Given the description of an element on the screen output the (x, y) to click on. 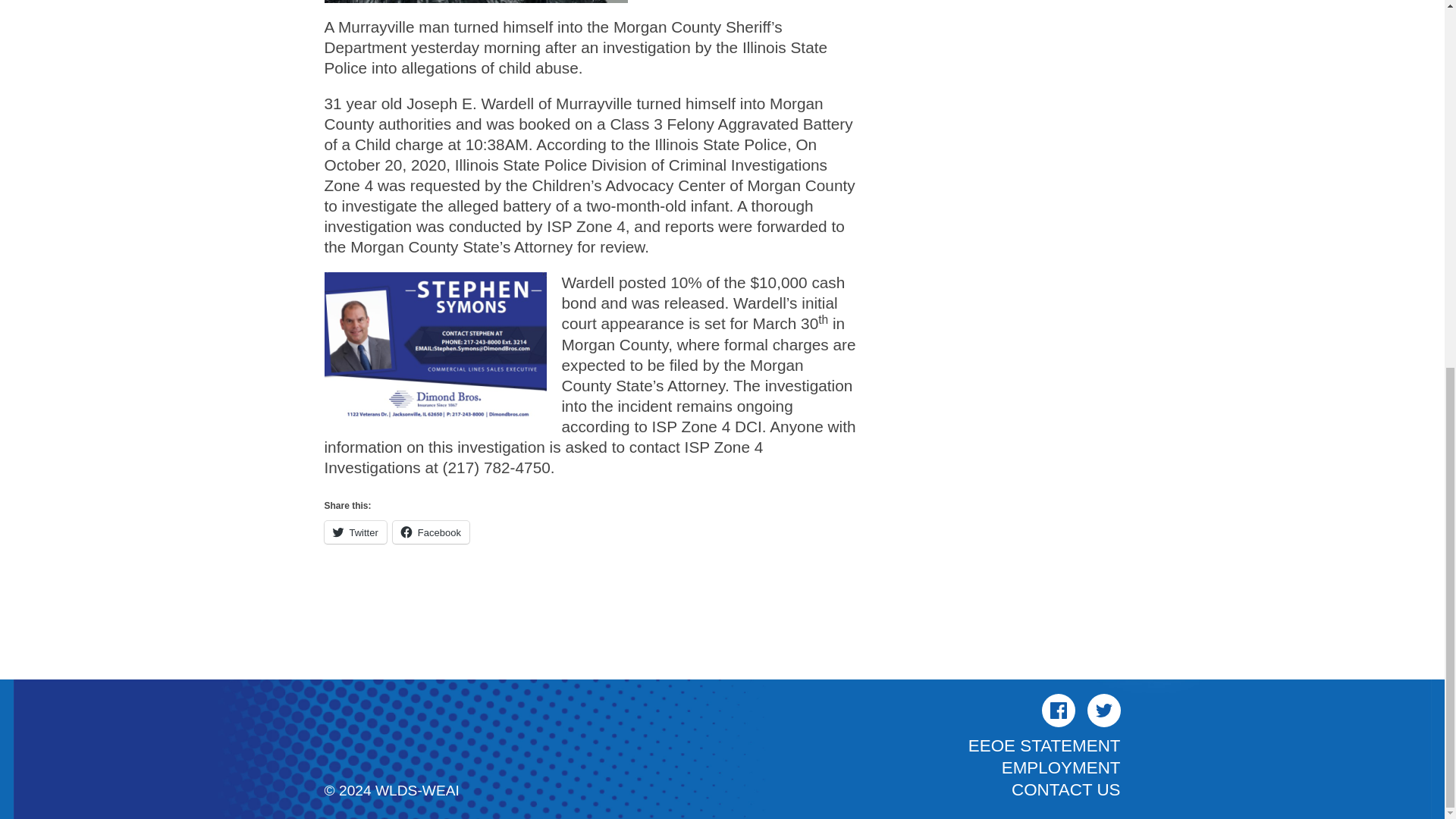
Twitter (1104, 710)
Facebook (1058, 710)
Twitter (355, 531)
Click to share on Facebook (430, 531)
EEOE STATEMENT (1044, 745)
CONTACT US (1065, 789)
EMPLOYMENT (1061, 767)
Facebook (430, 531)
Click to share on Twitter (355, 531)
